Given the description of an element on the screen output the (x, y) to click on. 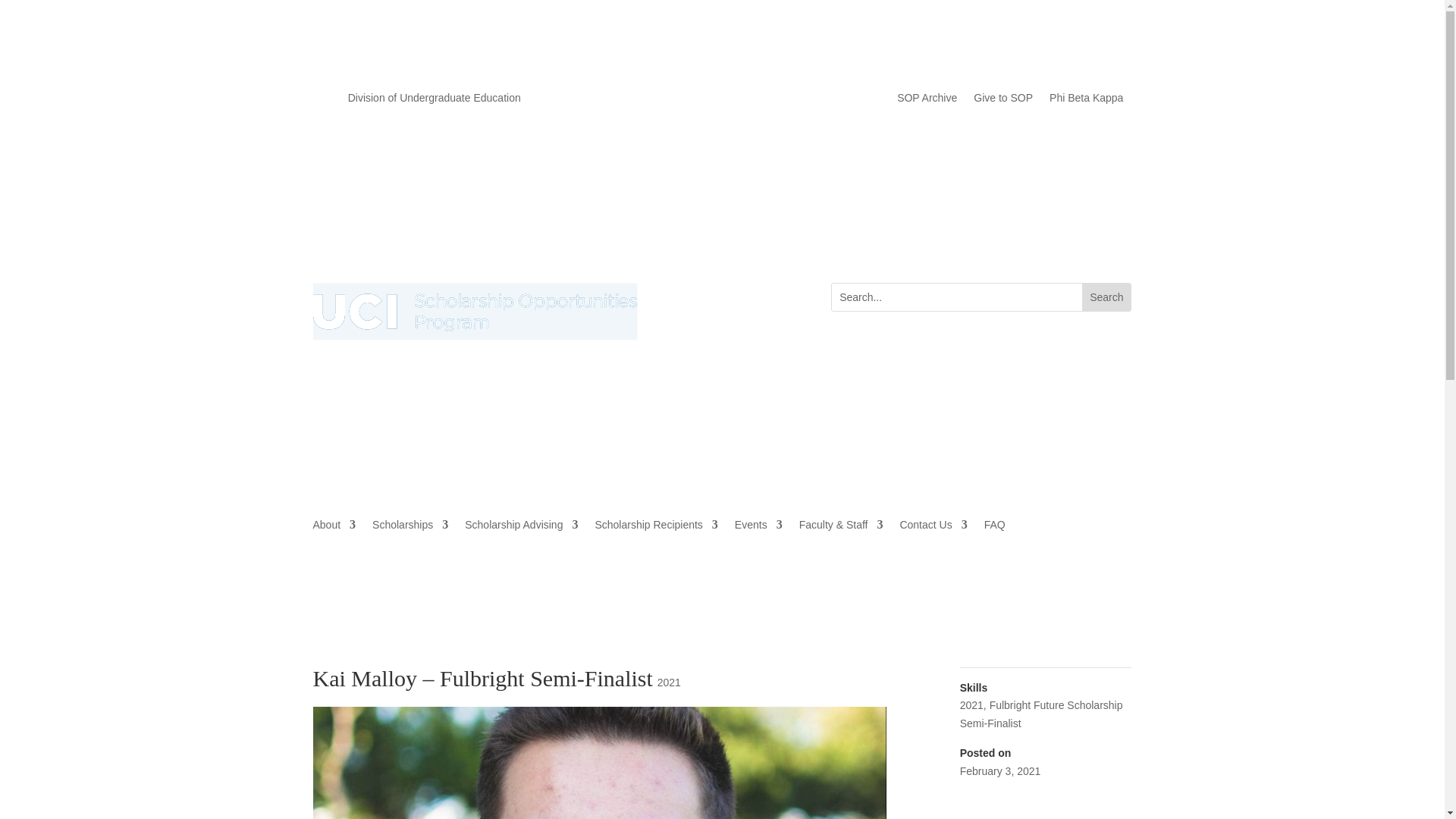
SOP Archive (926, 100)
Give to SOP (1003, 100)
Scholarships (410, 527)
Scholarship Recipients (655, 527)
Contact Us (932, 527)
FAQ (995, 527)
Events (759, 527)
Search (1106, 297)
2021 (669, 682)
Search (1106, 297)
